Given the description of an element on the screen output the (x, y) to click on. 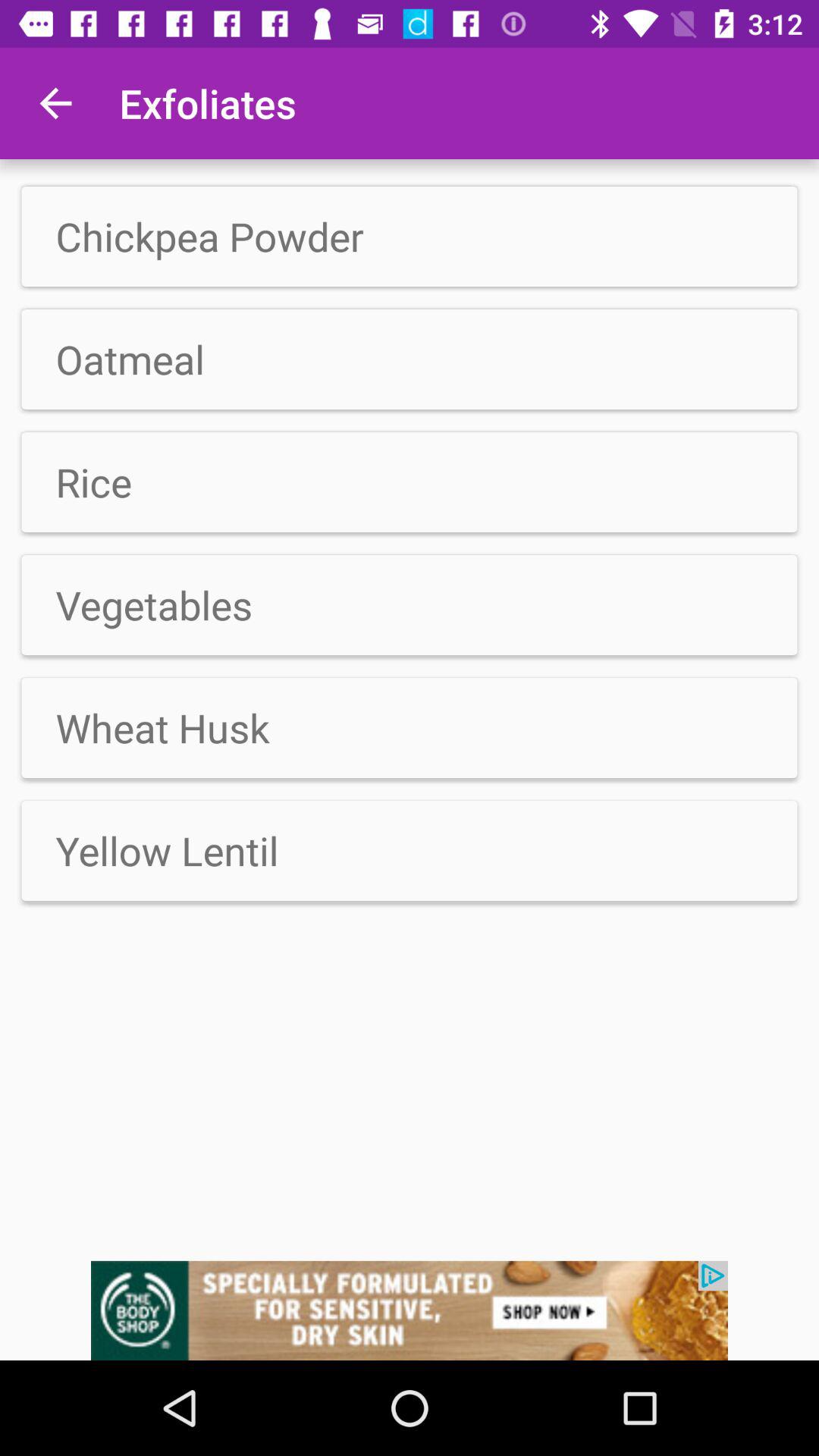
advertisement the body shop (409, 1310)
